Given the description of an element on the screen output the (x, y) to click on. 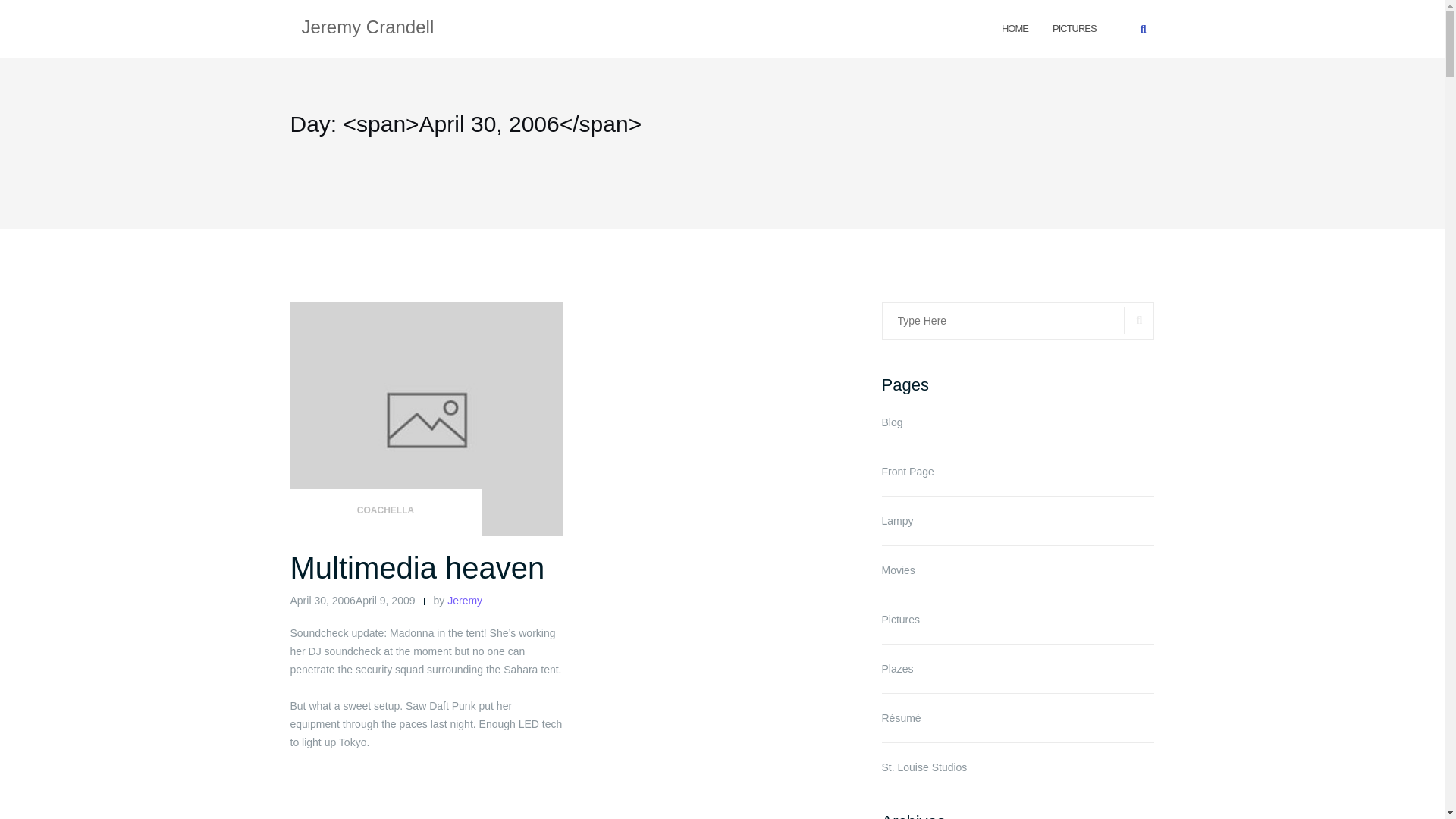
Front Page (906, 471)
Jeremy (463, 600)
Lampy (896, 521)
Multimedia heaven (416, 567)
Movies (897, 570)
Jeremy Crandell (367, 28)
SEARCH (1139, 320)
PICTURES (1074, 28)
Pictures (900, 619)
Plazes (896, 668)
St. Louise Studios (923, 767)
Jeremy (463, 600)
Blog (891, 422)
COACHELLA (384, 515)
Pictures (1074, 28)
